Given the description of an element on the screen output the (x, y) to click on. 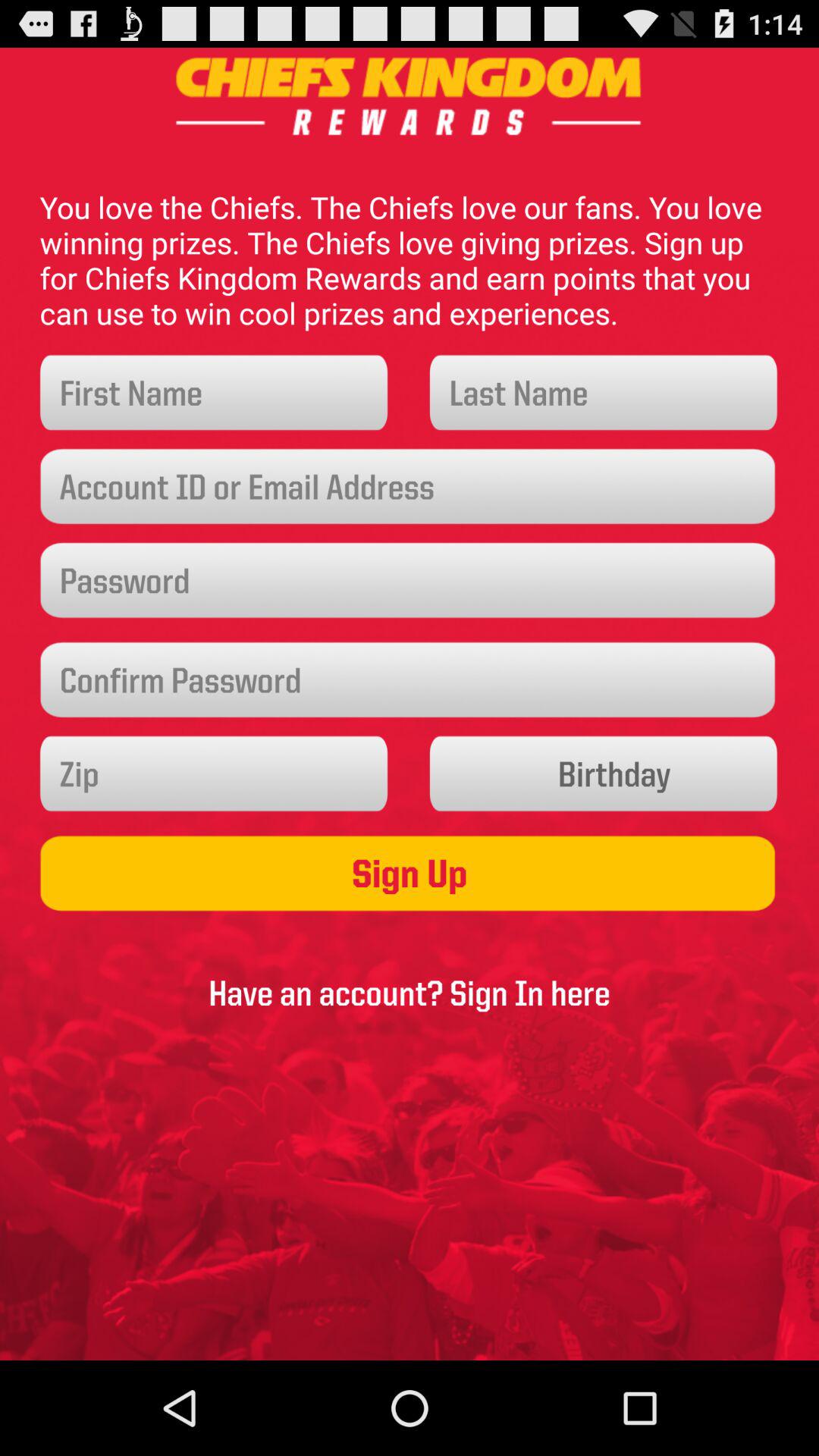
type last name (604, 392)
